Given the description of an element on the screen output the (x, y) to click on. 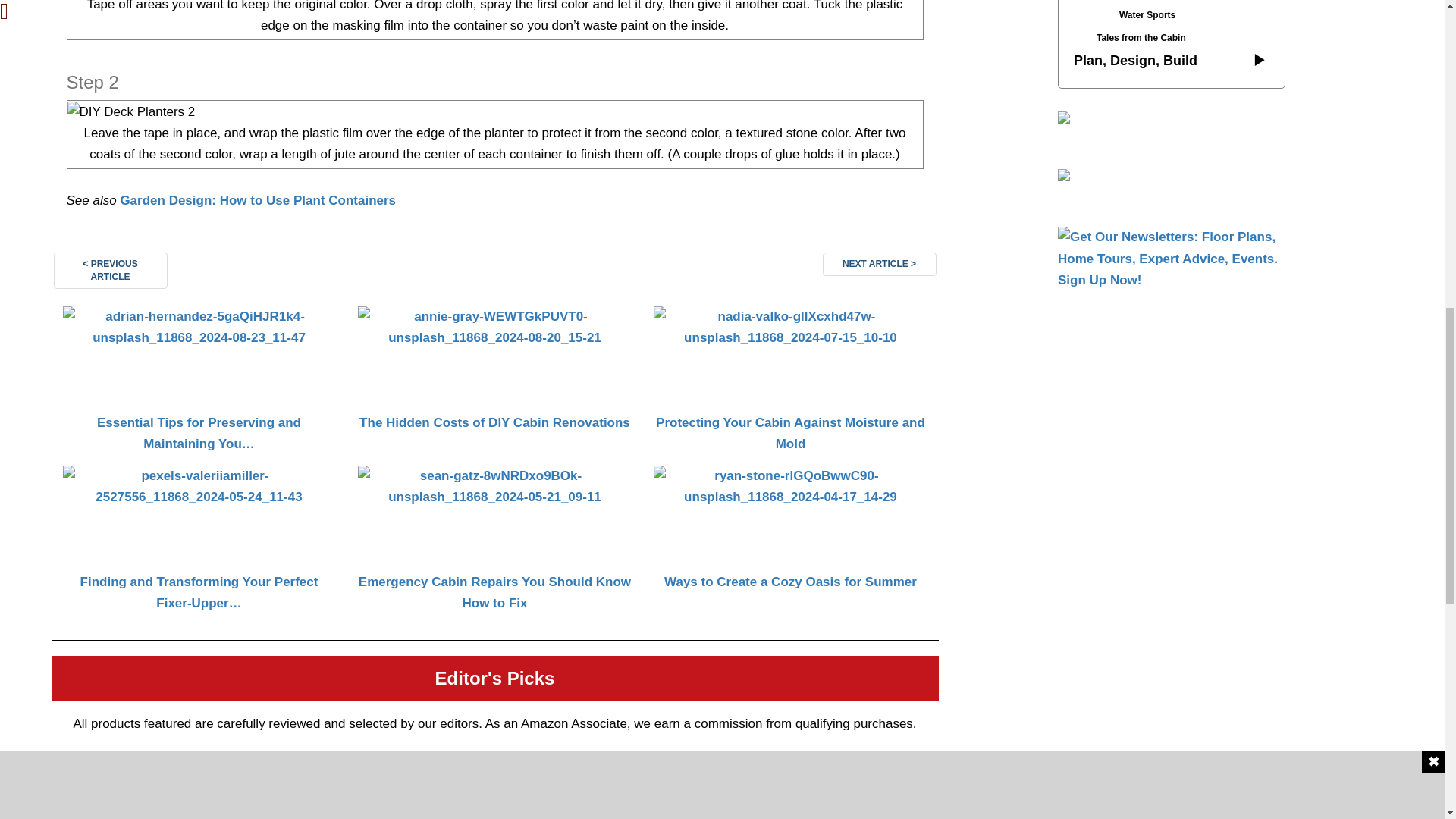
Finding and Transforming Your Perfect Fixer-Upper Cabin (198, 541)
The Hidden Costs of DIY Cabin Renovations (494, 381)
Emergency Cabin Repairs You Should Know How to Fix (494, 541)
Essential Tips for Preserving and Maintaining Your Log Cabin (198, 381)
Protecting Your Cabin Against Moisture and Mold (789, 381)
